Given the description of an element on the screen output the (x, y) to click on. 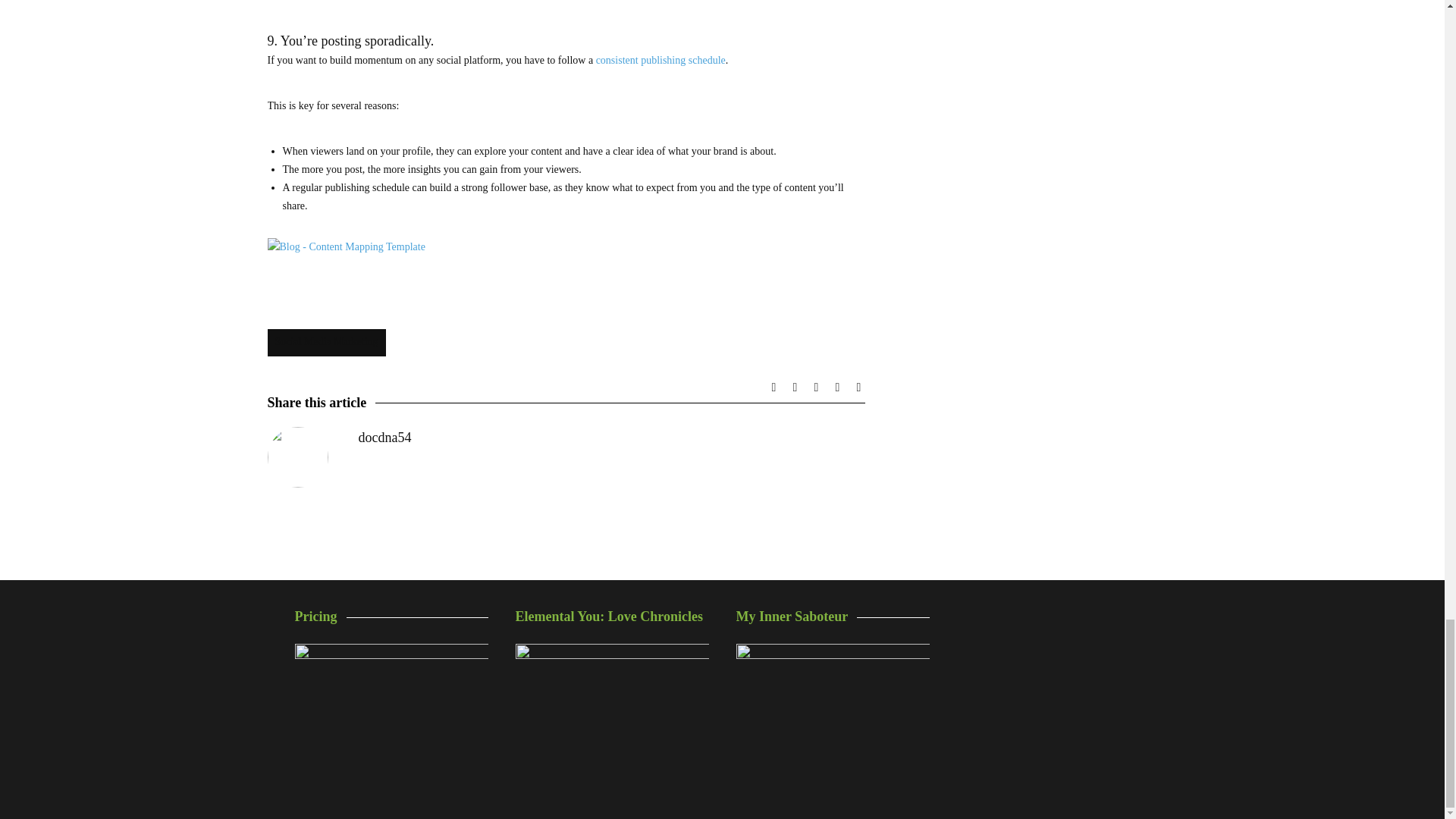
Pricing (390, 708)
consistent publishing schedule (660, 60)
Social Media Marketing (325, 342)
Elemental You: Love Chronicles (612, 717)
